Given the description of an element on the screen output the (x, y) to click on. 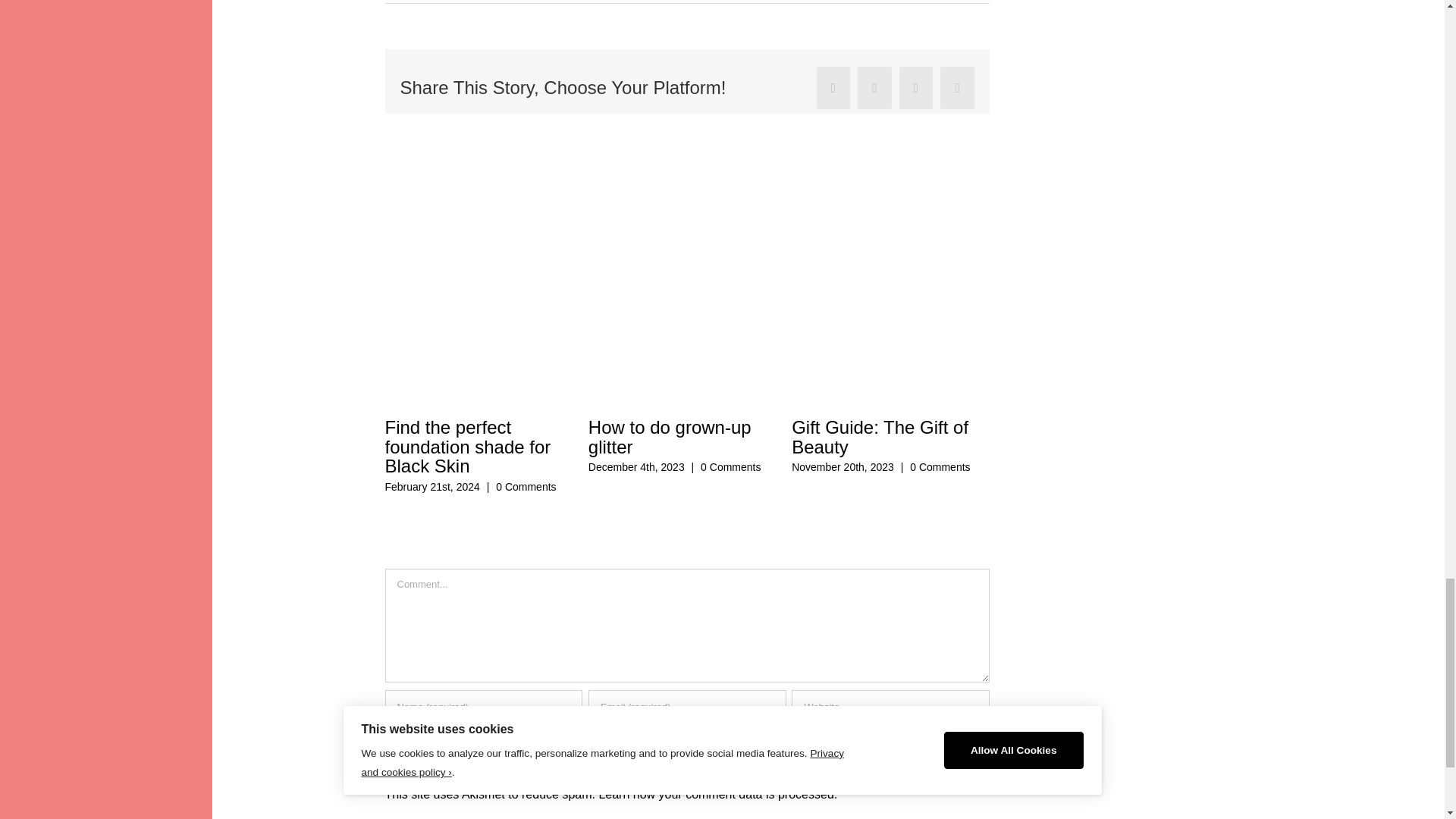
Post Comment (444, 755)
Find the perfect foundation shade for Black Skin (467, 446)
